Given the description of an element on the screen output the (x, y) to click on. 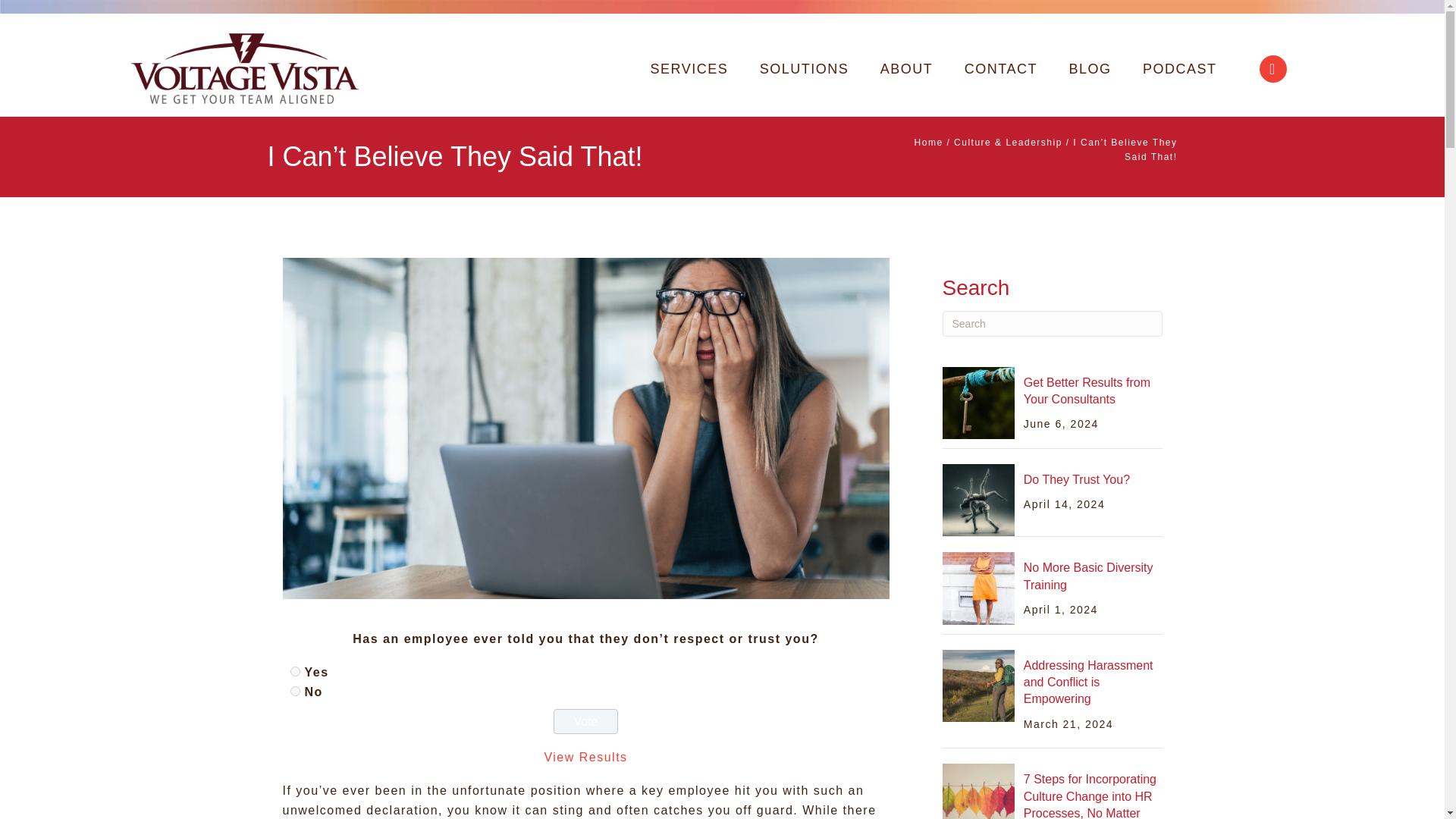
View Results (585, 757)
Addressing Harassment and Conflict is Empowering (1088, 682)
SERVICES (689, 68)
No More Basic Diversity Training (978, 586)
7 (294, 691)
ABOUT (906, 68)
Do They Trust You? (1076, 479)
SOLUTIONS (804, 68)
CONTACT (1000, 68)
View Results Of This Poll (585, 757)
Home (928, 142)
No More Basic Diversity Training (1088, 575)
Do They Trust You? (978, 499)
Get Better Results from Your Consultants (1086, 390)
PODCAST (1179, 68)
